Given the description of an element on the screen output the (x, y) to click on. 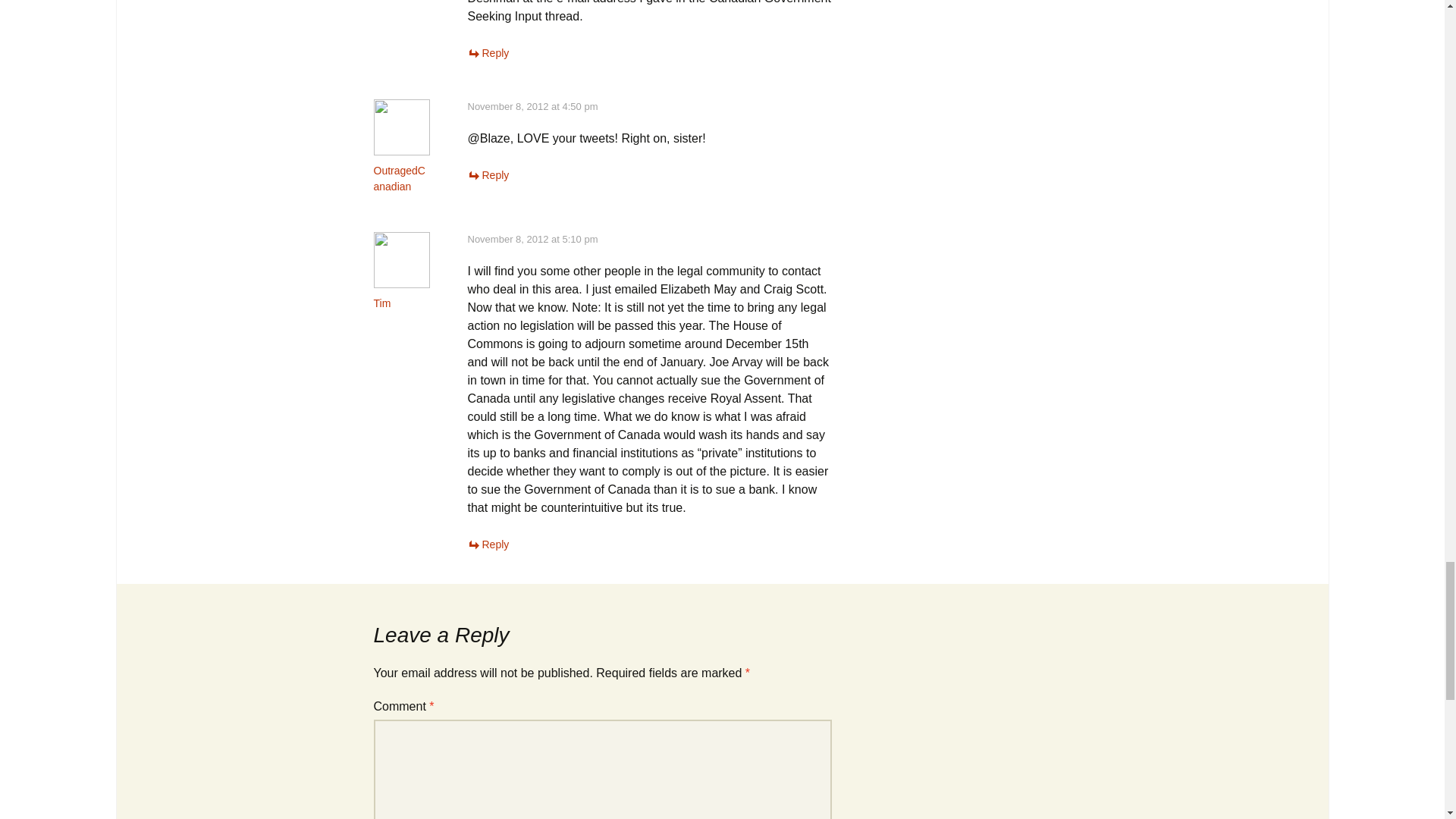
Reply (487, 52)
Reply (487, 174)
November 8, 2012 at 4:50 pm (531, 106)
November 8, 2012 at 5:10 pm (531, 238)
OutragedCanadian (398, 178)
Reply (487, 544)
Tim (381, 303)
